Given the description of an element on the screen output the (x, y) to click on. 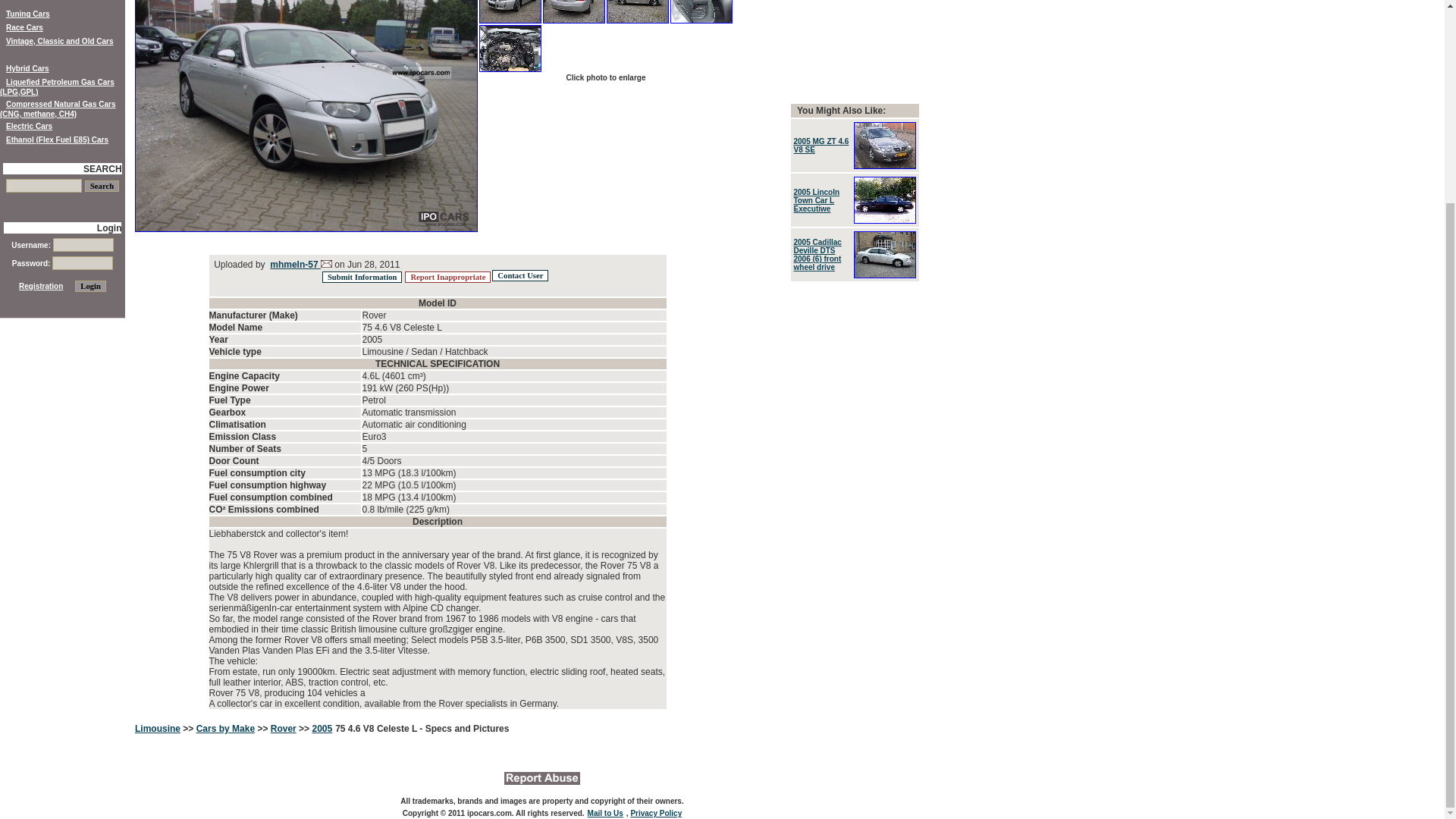
Submit Information (361, 276)
on Jun 28, 2011 (439, 275)
Report Inappropriate (447, 276)
Contact User (520, 275)
Search (101, 184)
mhmeln-57  (294, 264)
Click photo to enlarge (605, 77)
Advertisement (854, 44)
Report Inappropriate (447, 276)
Submit Information (361, 276)
